Given the description of an element on the screen output the (x, y) to click on. 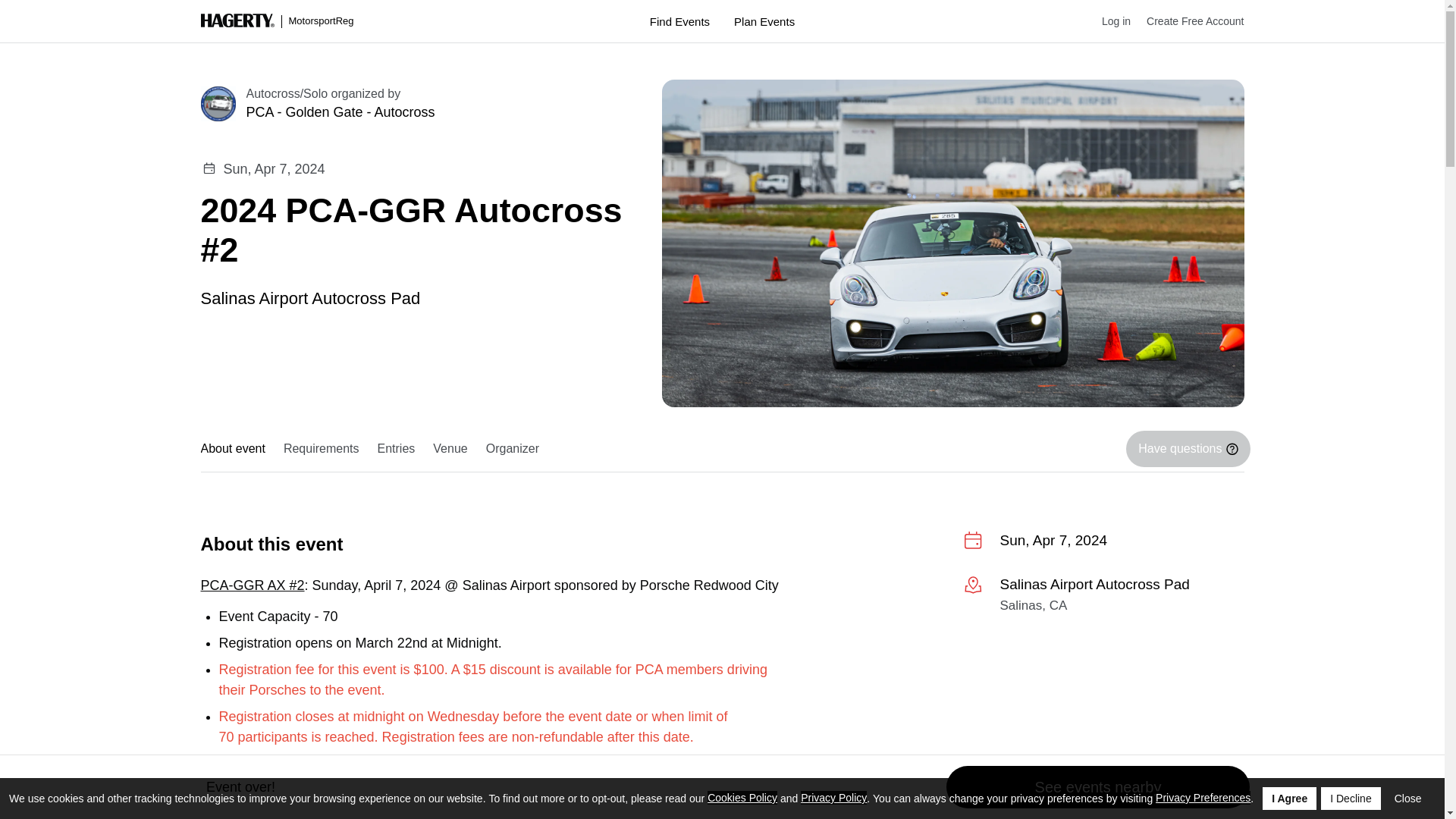
Find Events (679, 21)
More info (1102, 597)
Requirements (321, 449)
MotorsportReg (276, 21)
Entries (396, 449)
Privacy Preferences (1203, 797)
Cookies Policy (742, 797)
Close (1408, 798)
I Agree (1289, 798)
Organizer (512, 449)
